Given the description of an element on the screen output the (x, y) to click on. 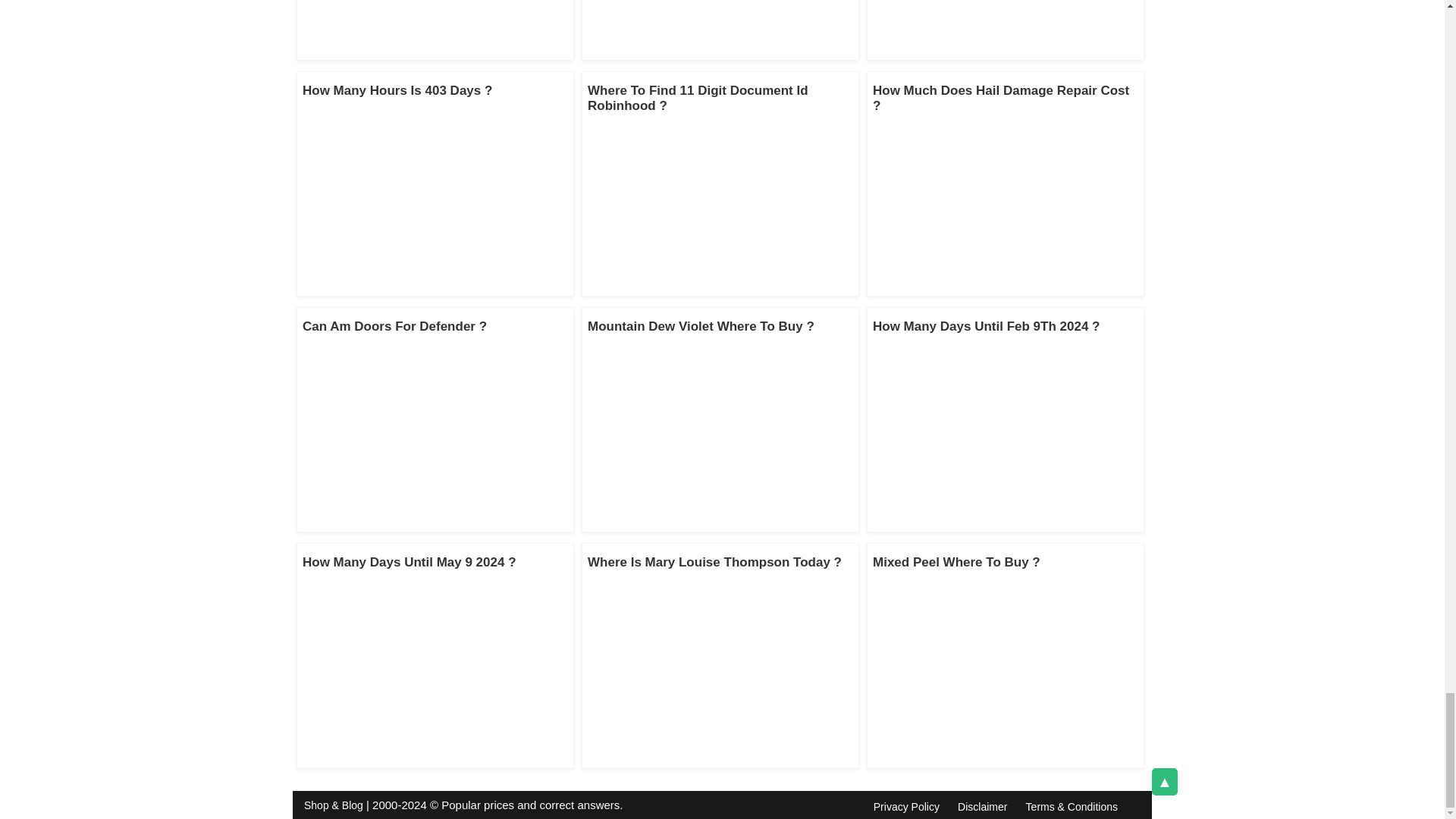
How Many Hours Is 403 Days ? (397, 90)
Where Is Mary Louise Thompson Today ? (714, 562)
How Many Days Until May 9 2024 ? (409, 562)
Mountain Dew Violet Where To Buy ? (700, 326)
Where To Find 11 Digit Document Id Robinhood ? (698, 98)
Can Am Doors For Defender ? (394, 326)
